Given the description of an element on the screen output the (x, y) to click on. 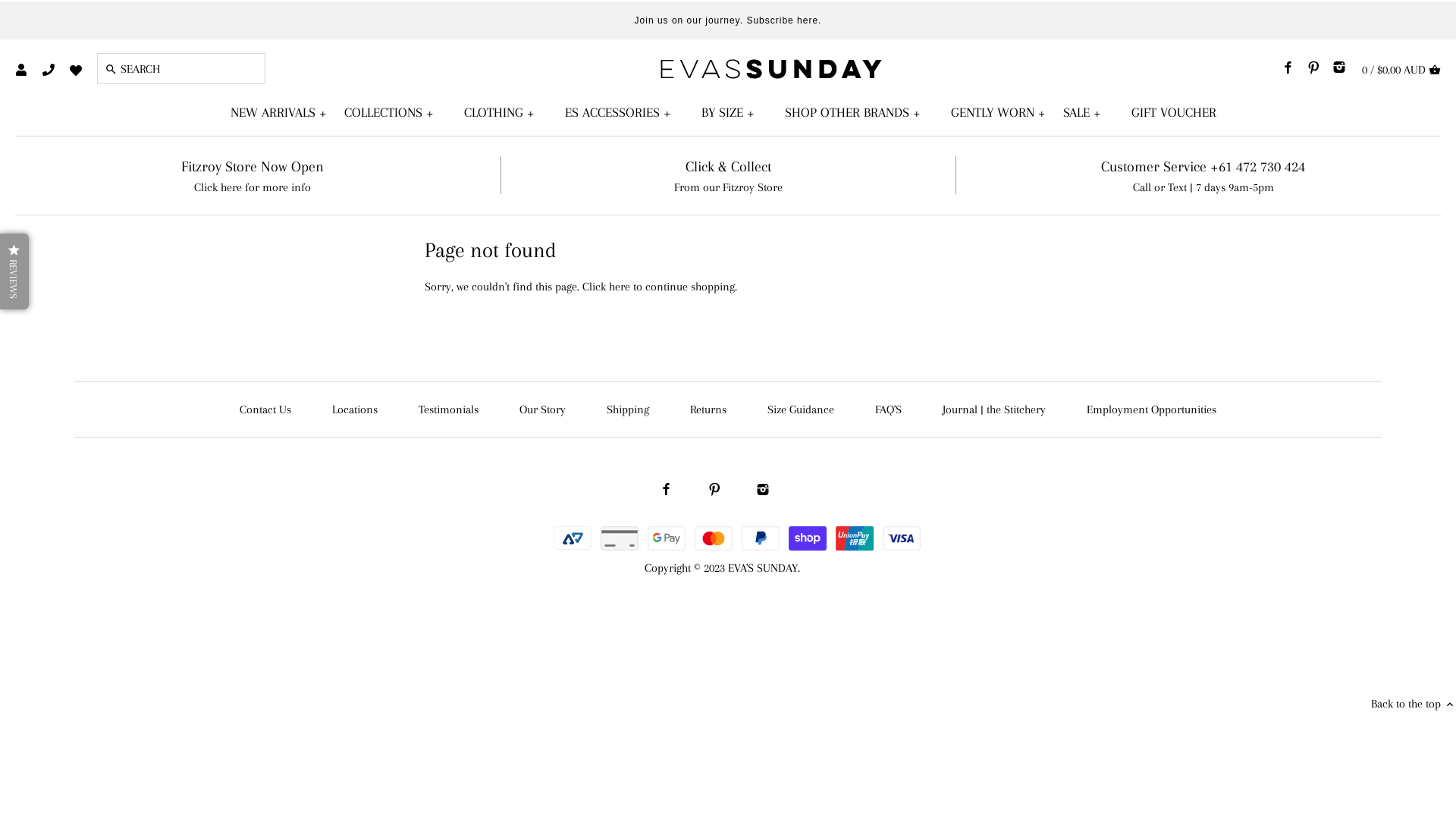
CLOTHING + Element type: text (503, 112)
Size Guidance Element type: text (800, 409)
Testimonials Element type: text (448, 409)
Facebook Element type: hover (1287, 65)
ES ACCESSORIES + Element type: text (622, 112)
GENTLY WORN + Element type: text (1002, 112)
EVA'S SUNDAY Element type: text (762, 567)
Fitzroy Store Now Open
Click here for more info Element type: text (252, 176)
Search Element type: text (110, 69)
Instagram Element type: hover (1338, 65)
FAQ'S Element type: text (888, 409)
Returns Element type: text (707, 409)
Facebook Element type: hover (666, 488)
NEW ARRIVALS + Element type: text (282, 112)
Shipping Element type: text (627, 409)
COLLECTIONS + Element type: text (392, 112)
Employment Opportunities Element type: text (1151, 409)
Contact Us Element type: text (265, 409)
Pinterest Element type: hover (1313, 65)
Instagram Element type: hover (762, 488)
SALE + Element type: text (1085, 112)
Our Story Element type: text (542, 409)
BY SIZE + Element type: text (732, 112)
Click here Element type: text (606, 286)
Locations Element type: text (354, 409)
0 / $0.00 AUD Cart Element type: text (1400, 68)
Click & Collect
From our Fitzroy Store Element type: text (728, 176)
SHOP OTHER BRANDS + Element type: text (857, 112)
Pinterest Element type: hover (714, 488)
GIFT VOUCHER Element type: text (1177, 112)
Journal | the Stitchery Element type: text (994, 409)
